Given the description of an element on the screen output the (x, y) to click on. 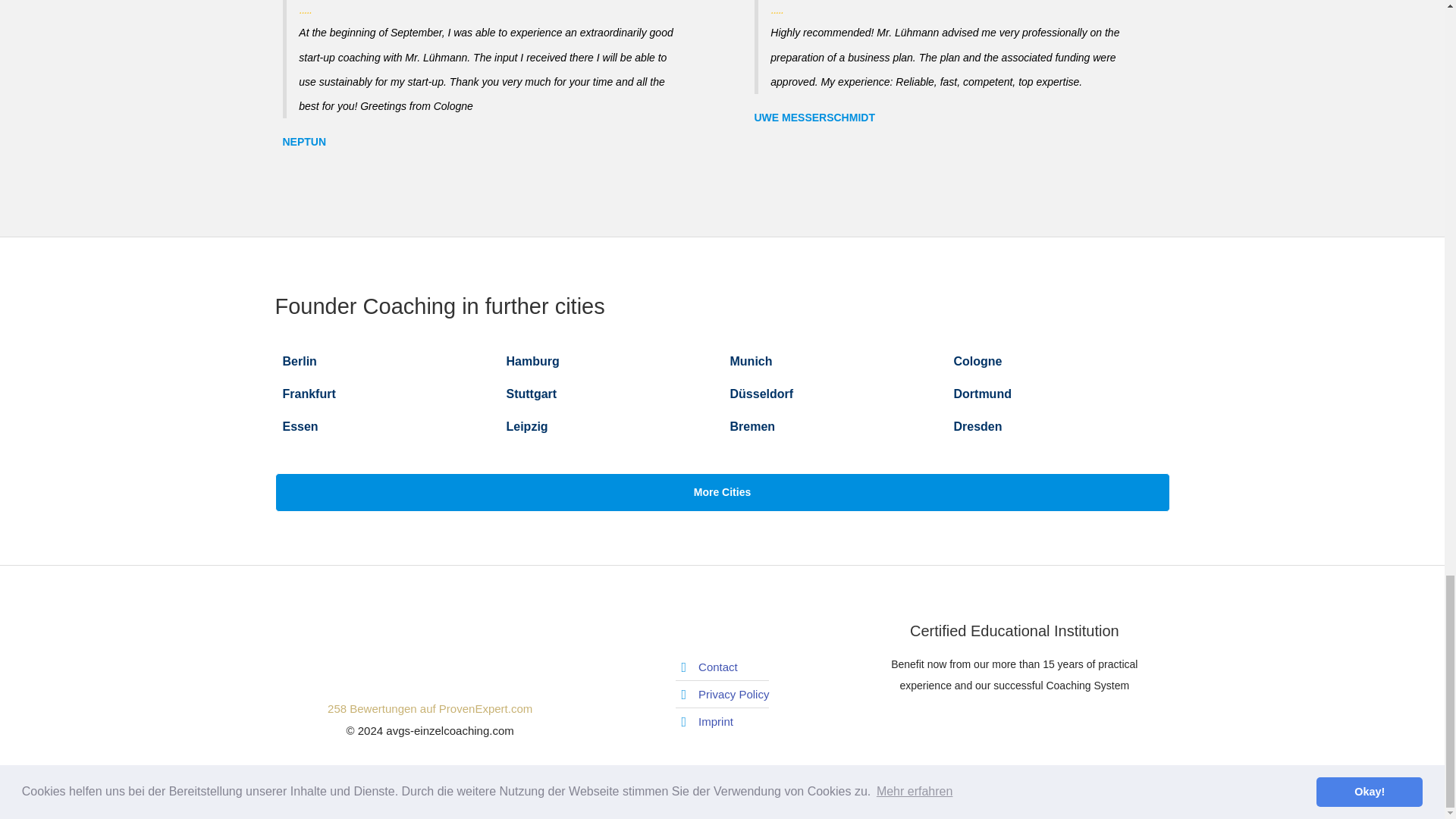
Cologne (978, 360)
Bremen (751, 426)
Stuttgart (531, 393)
Dresden (978, 426)
Frankfurt (308, 393)
Hamburg (532, 360)
Munich (750, 360)
Berlin (298, 360)
More Cities (722, 492)
Leipzig (429, 698)
Dortmund (527, 426)
Essen (982, 393)
